Given the description of an element on the screen output the (x, y) to click on. 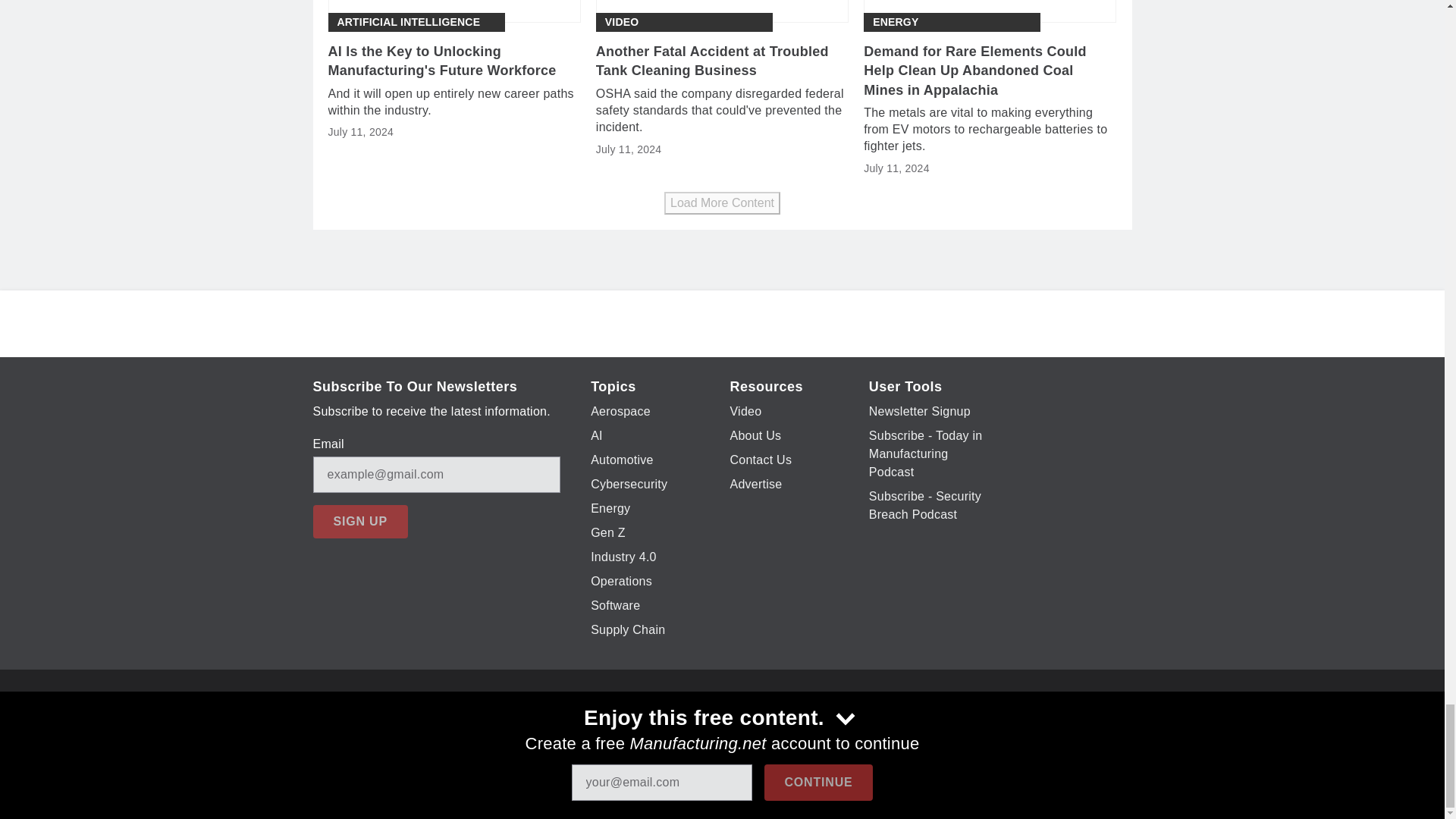
Facebook icon (656, 727)
Twitter X icon (696, 727)
YouTube icon (735, 727)
LinkedIn icon (775, 727)
